Given the description of an element on the screen output the (x, y) to click on. 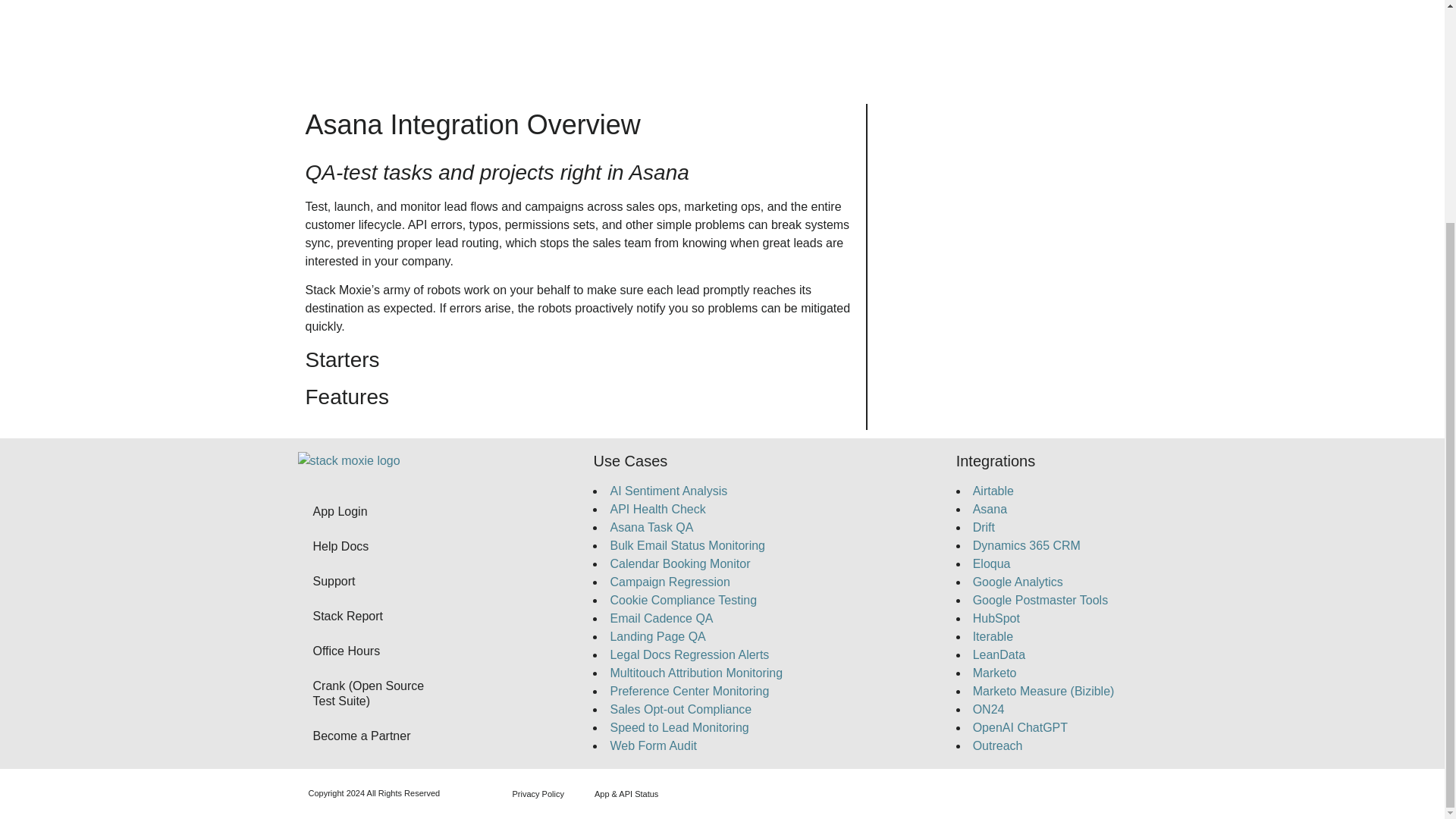
Help Docs (377, 546)
App Login (377, 511)
